Given the description of an element on the screen output the (x, y) to click on. 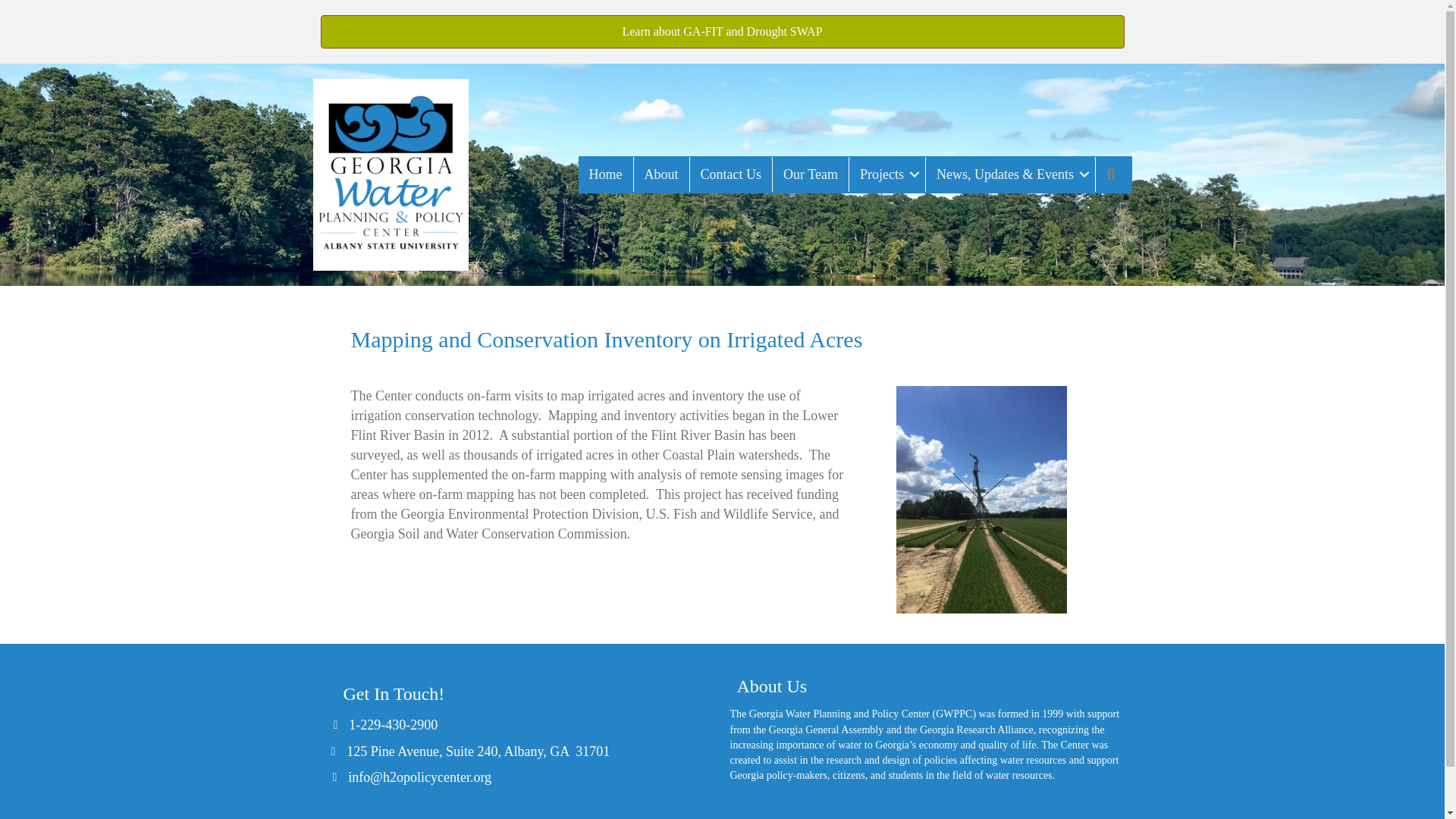
Our Team (810, 174)
Projects (886, 174)
Search (1114, 174)
Home (605, 174)
Learn about GA-FIT and Drought SWAP (722, 31)
125 Pine Avenue, Suite 240, Albany, GA  31701 (478, 751)
About (660, 174)
1-229-430-2900 (393, 724)
Contact Us (731, 174)
